Given the description of an element on the screen output the (x, y) to click on. 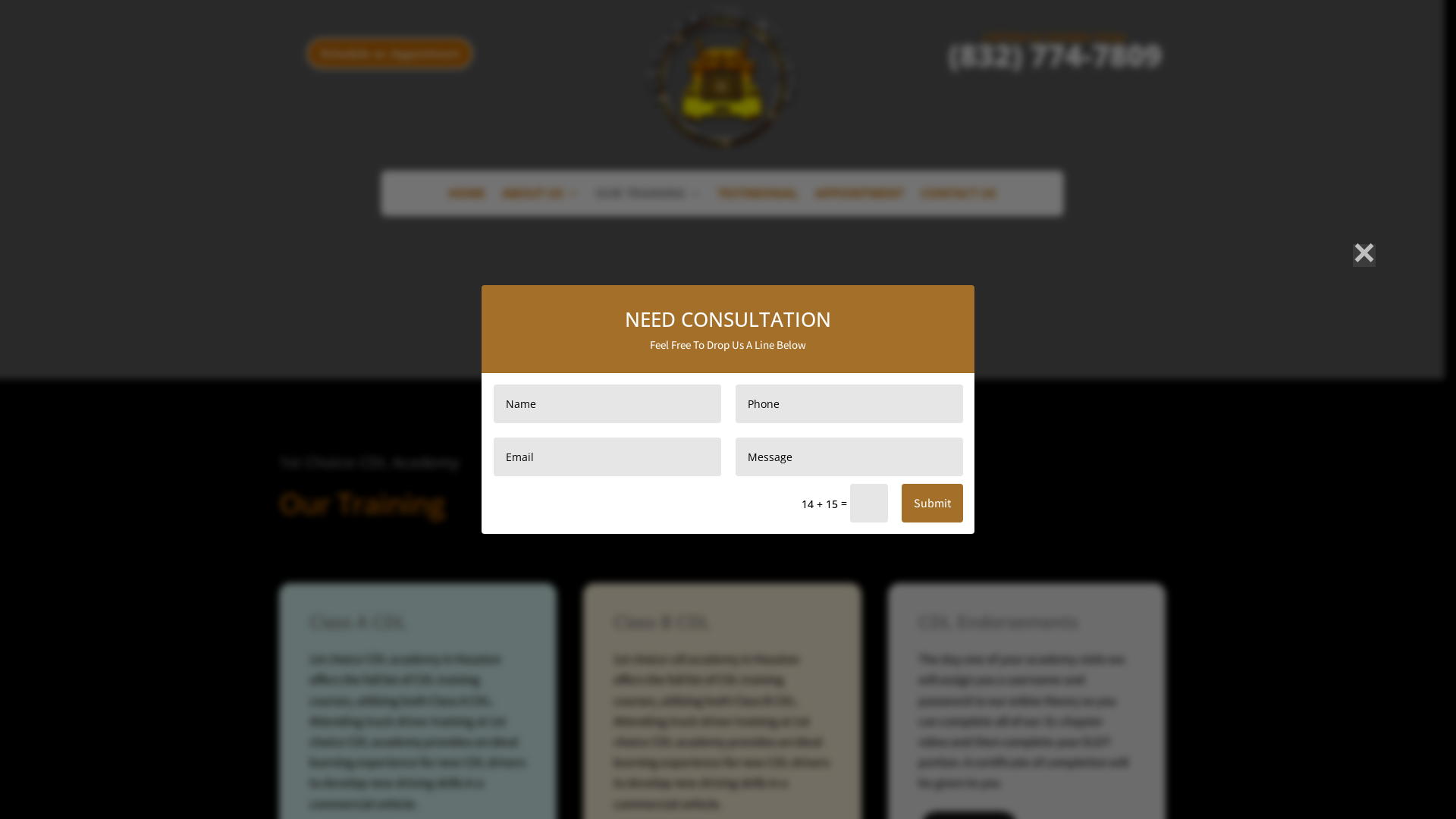
APPOINTMENT Element type: text (859, 200)
Submit Element type: text (932, 502)
OUR TRAINING Element type: text (647, 200)
TESTIMONIAL Element type: text (757, 200)
Only numbers allowed. Element type: hover (849, 403)
logo-green-dark Element type: hover (721, 77)
HOME Element type: text (466, 200)
ABOUT US Element type: text (540, 200)
CONTACT US Element type: text (958, 200)
Schedule an Appointment Element type: text (389, 53)
